Given the description of an element on the screen output the (x, y) to click on. 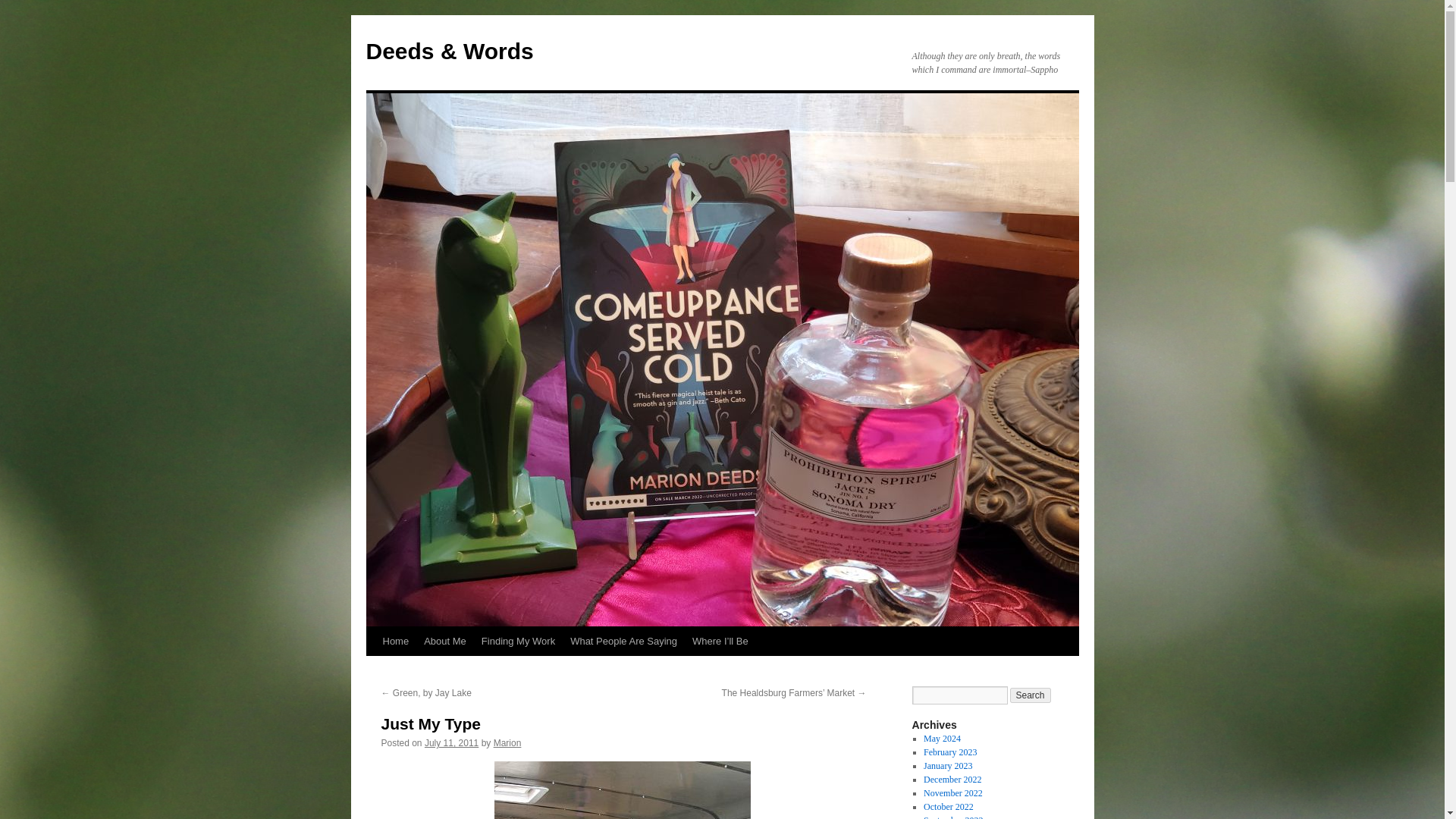
Search (1030, 694)
Search (1030, 694)
February 2023 (949, 751)
Finding My Work (518, 641)
October 2022 (948, 806)
Marion (507, 742)
January 2023 (947, 765)
Home (395, 641)
November 2022 (952, 792)
May 2024 (941, 738)
What People Are Saying (623, 641)
July 11, 2011 (452, 742)
About Me (445, 641)
View all posts by Marion (507, 742)
December 2022 (952, 778)
